Given the description of an element on the screen output the (x, y) to click on. 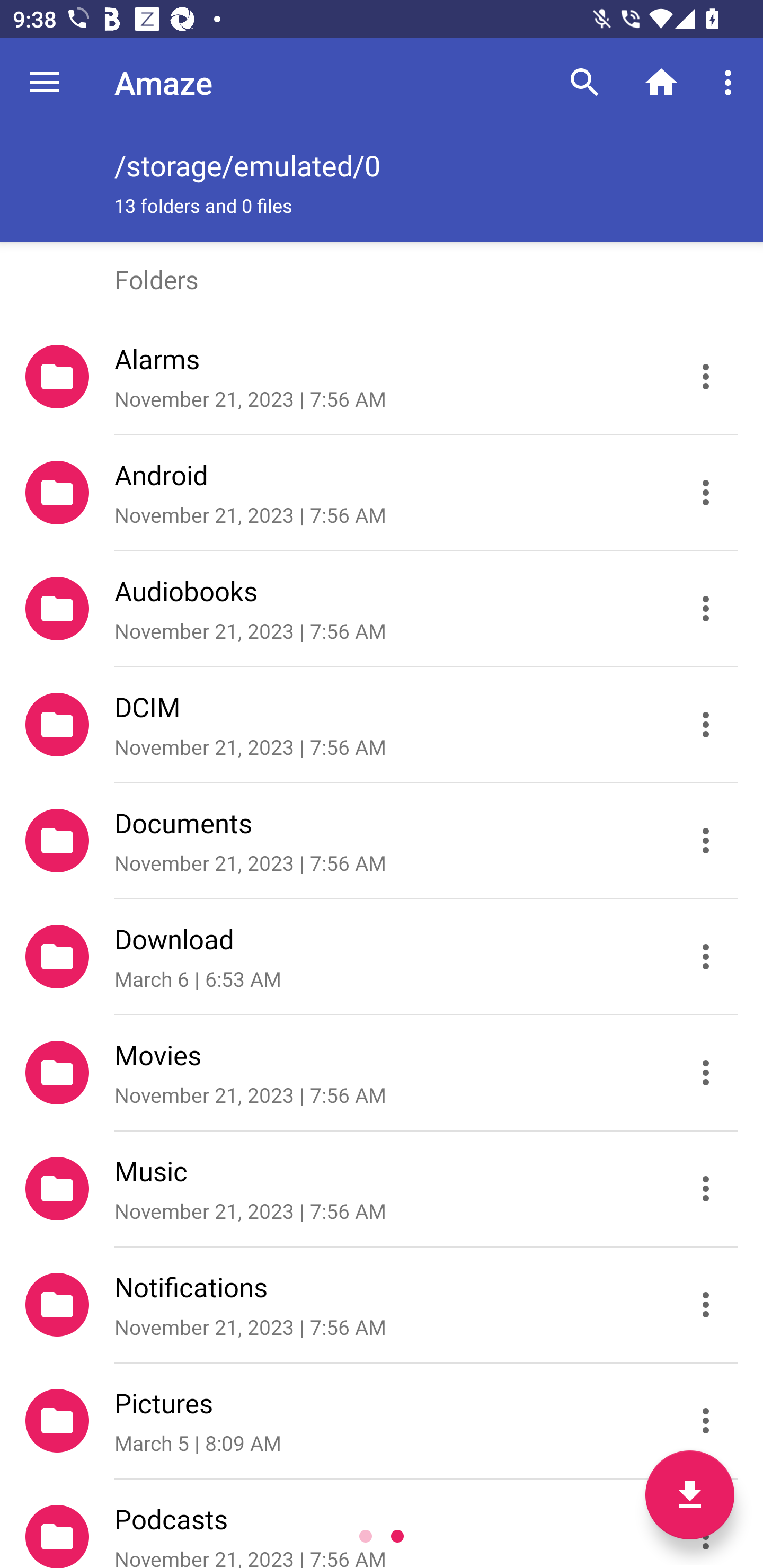
Navigate up (44, 82)
Search (585, 81)
Home (661, 81)
More options (731, 81)
Alarms November 21, 2023 | 7:56 AM (381, 376)
Android November 21, 2023 | 7:56 AM (381, 492)
Audiobooks November 21, 2023 | 7:56 AM (381, 608)
DCIM November 21, 2023 | 7:56 AM (381, 724)
Documents November 21, 2023 | 7:56 AM (381, 841)
Download March 6 | 6:53 AM (381, 957)
Movies November 21, 2023 | 7:56 AM (381, 1073)
Music November 21, 2023 | 7:56 AM (381, 1189)
Notifications November 21, 2023 | 7:56 AM (381, 1305)
Pictures March 5 | 8:09 AM (381, 1421)
Podcasts November 21, 2023 | 7:56 AM (381, 1524)
